Given the description of an element on the screen output the (x, y) to click on. 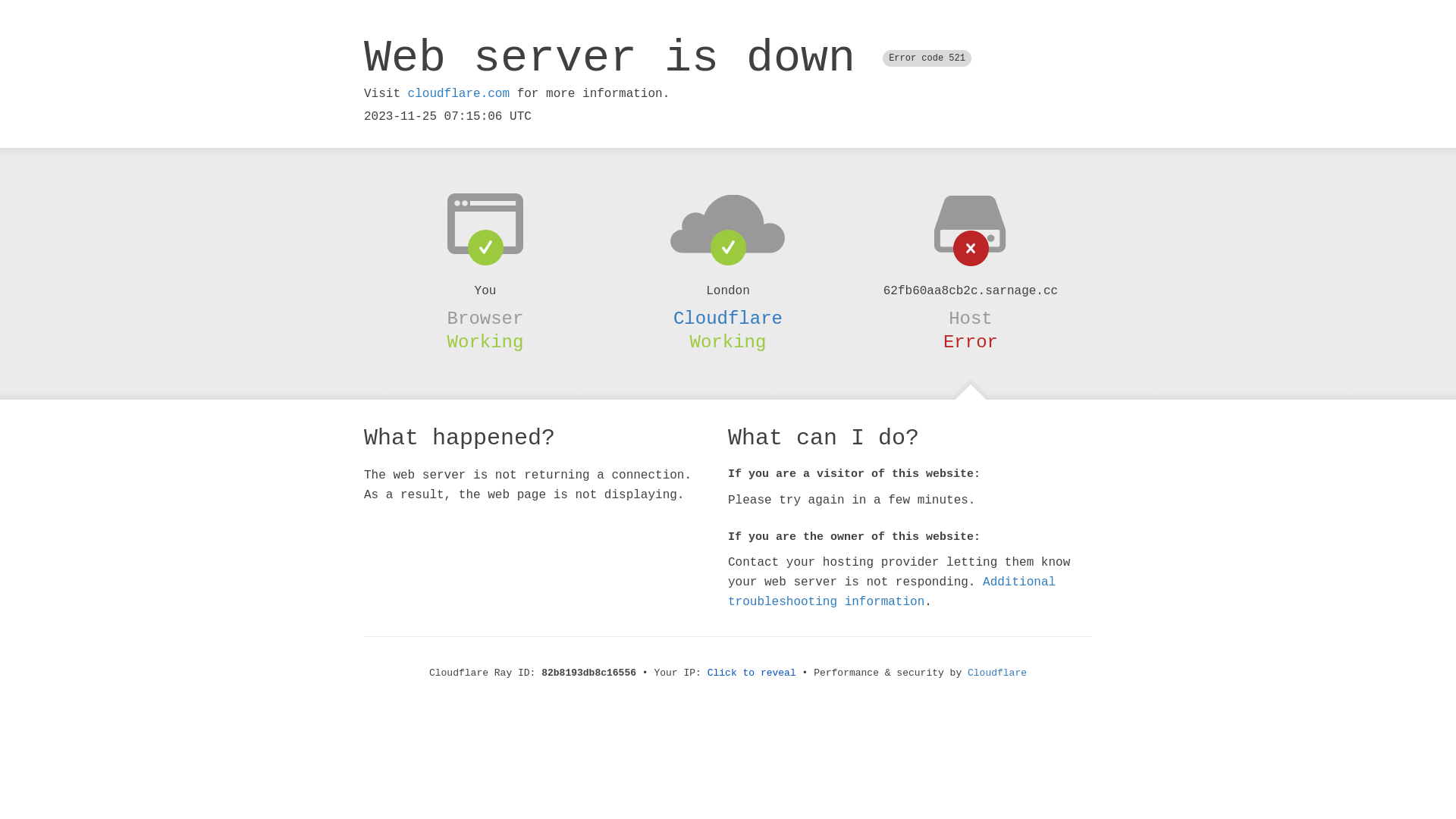
Click to reveal Element type: text (751, 672)
Cloudflare Element type: text (727, 318)
Additional troubleshooting information Element type: text (891, 591)
cloudflare.com Element type: text (458, 93)
Cloudflare Element type: text (996, 672)
